Given the description of an element on the screen output the (x, y) to click on. 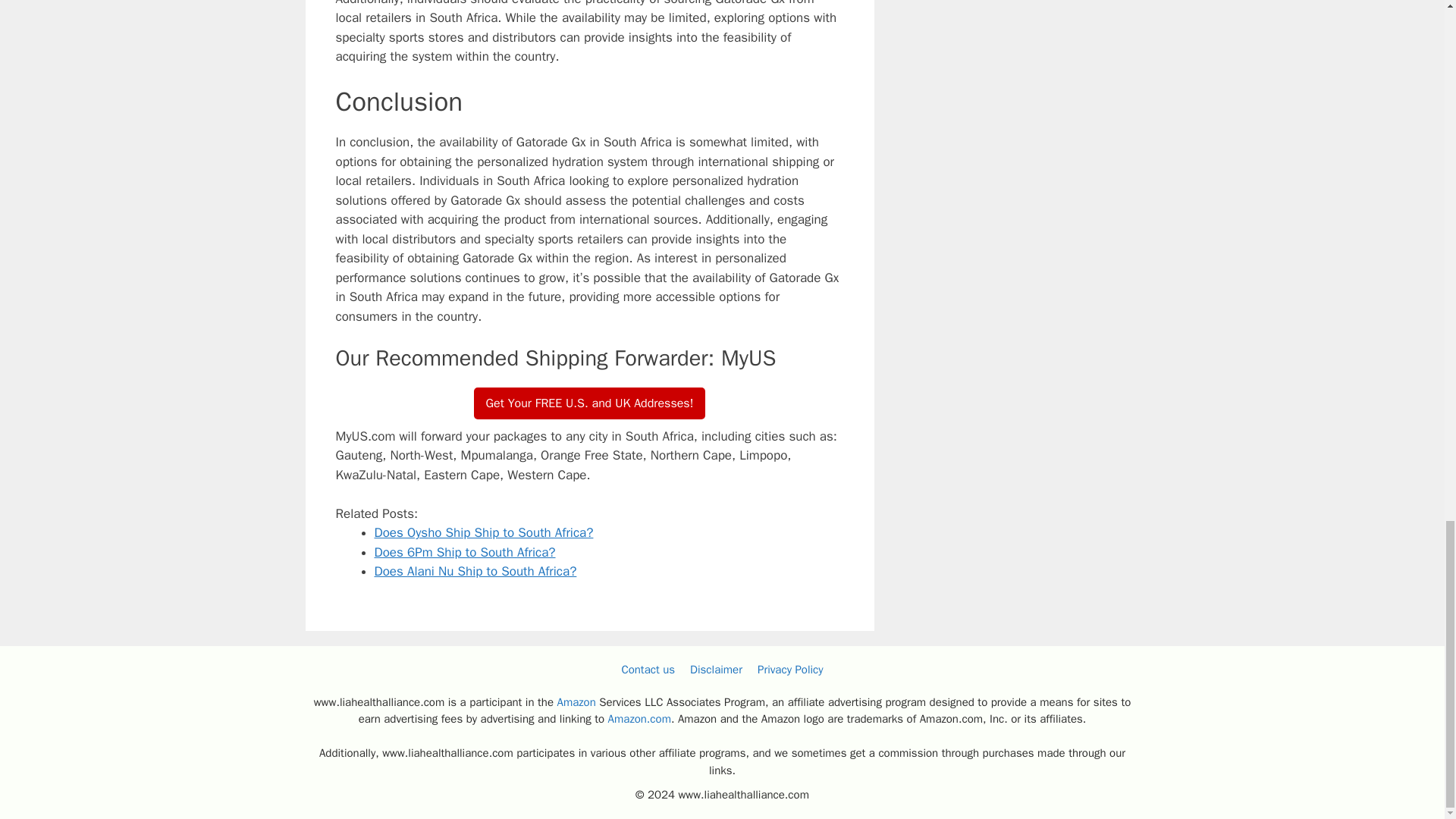
Amazon (575, 702)
Does Oysho Ship Ship to South Africa? (484, 532)
Does Alani Nu Ship to South Africa? (475, 571)
Get Your FREE U.S. and UK Addresses! (590, 403)
Contact us (648, 669)
Disclaimer (716, 669)
Amazon.com (639, 718)
Privacy Policy (790, 669)
Does 6Pm Ship to South Africa? (465, 552)
